Given the description of an element on the screen output the (x, y) to click on. 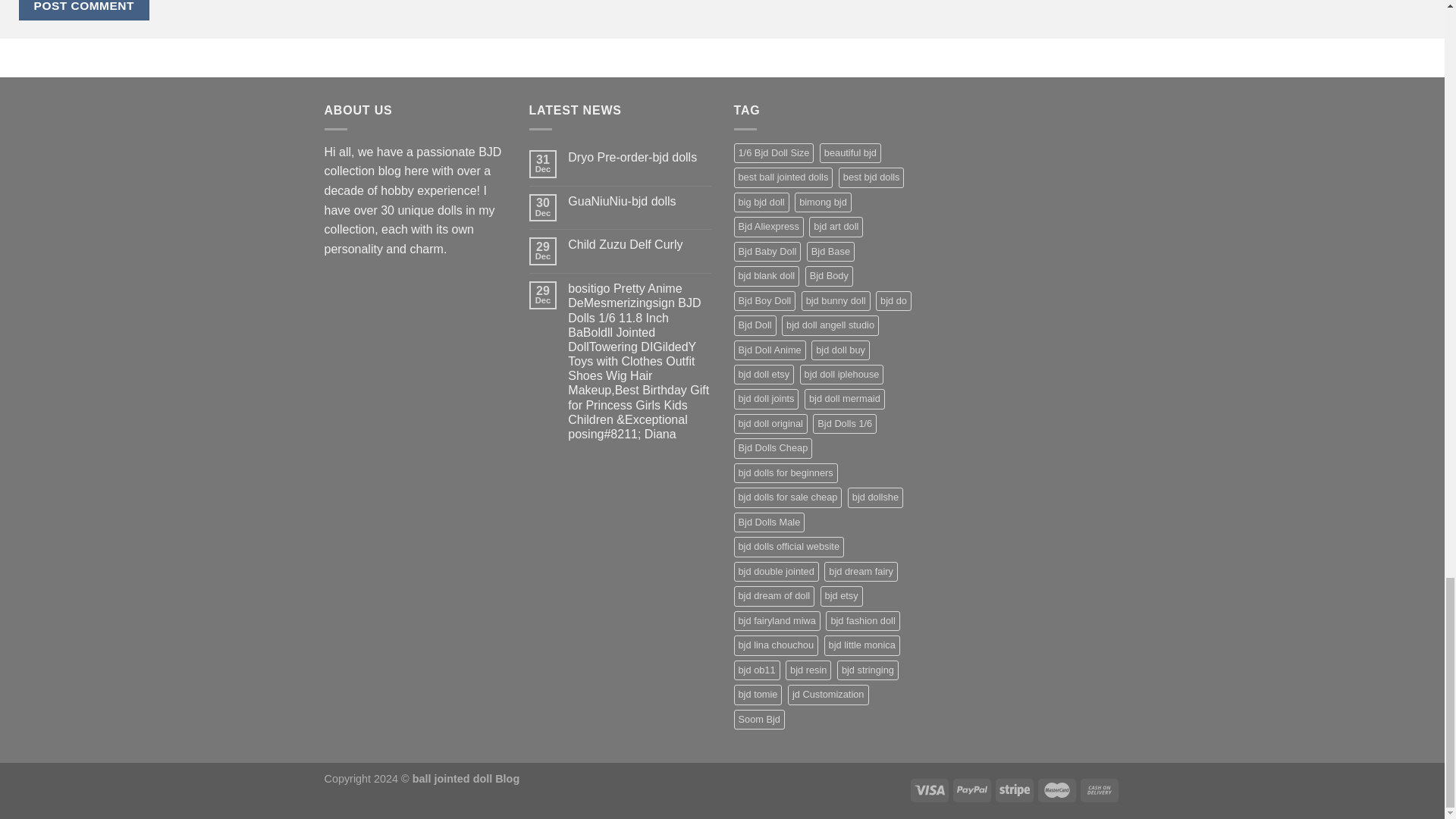
Post Comment (83, 10)
GuaNiuNiu-bjd dolls (638, 201)
Post Comment (83, 10)
Child Zuzu Delf Curly (638, 244)
Child Zuzu Delf Curly (638, 244)
GuaNiuNiu-bjd dolls (638, 201)
Dryo Pre-order-bjd dolls (638, 156)
Dryo Pre-order-bjd dolls (638, 156)
